Given the description of an element on the screen output the (x, y) to click on. 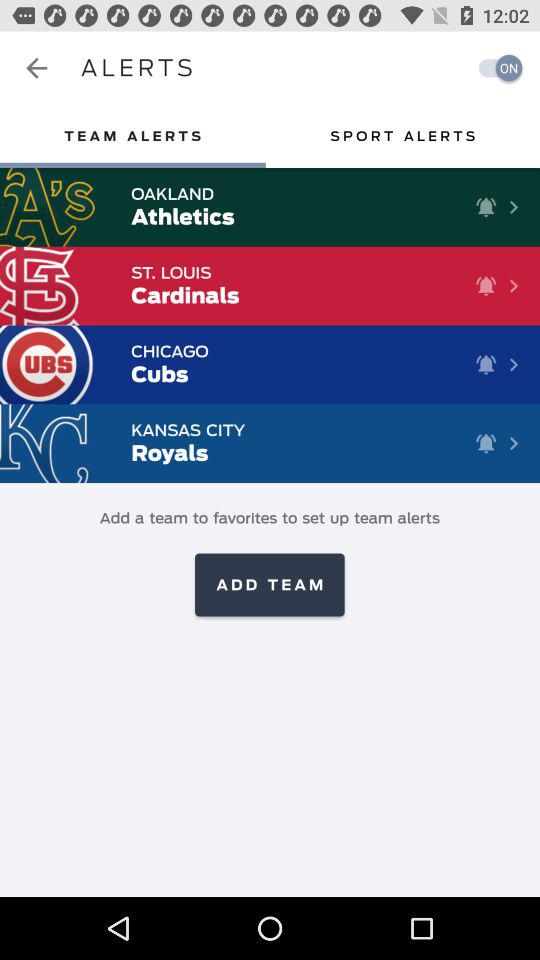
press app next to the alerts icon (36, 68)
